Given the description of an element on the screen output the (x, y) to click on. 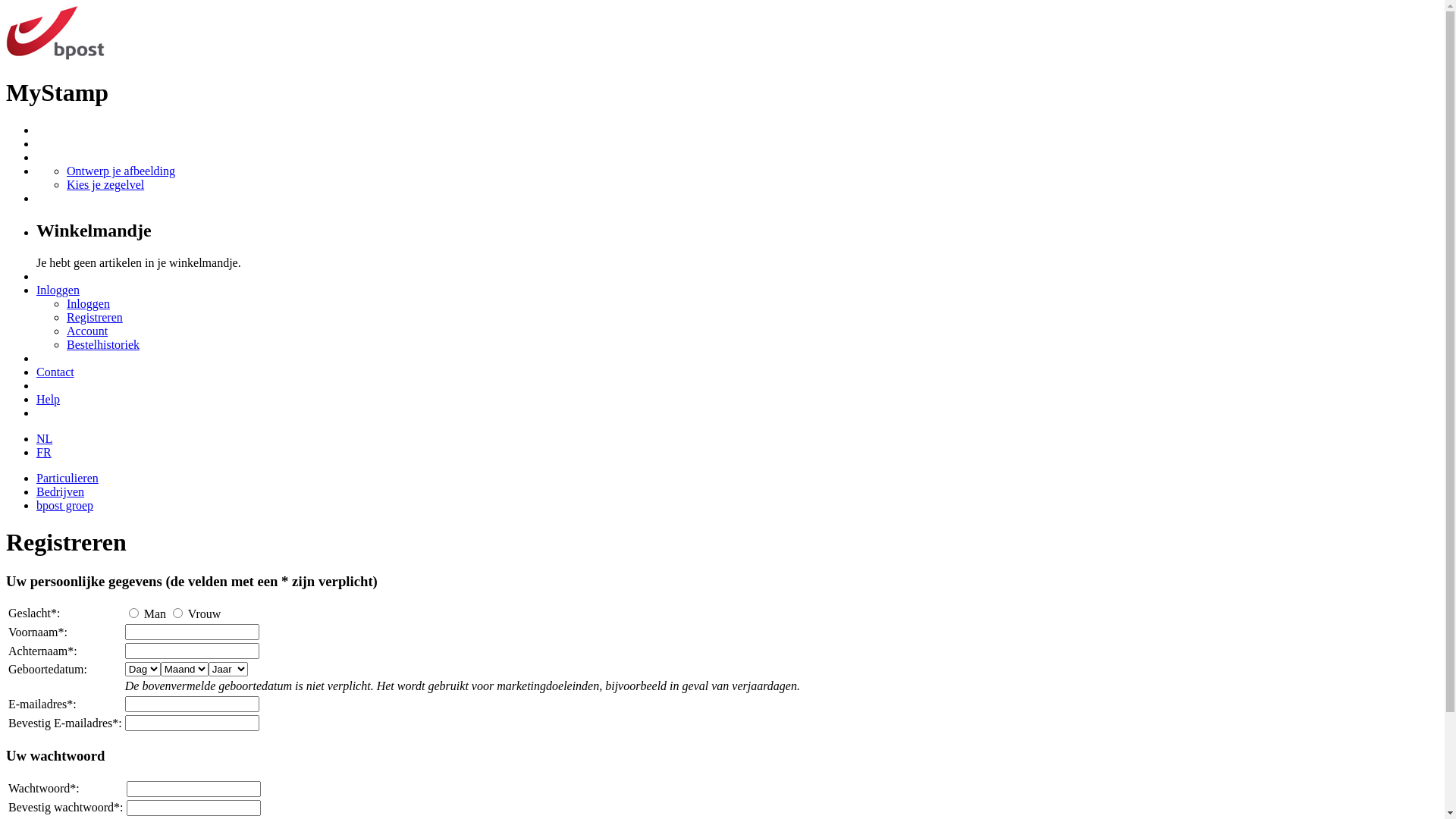
Ontwerp je afbeelding Element type: text (120, 170)
Inloggen Element type: text (87, 303)
Inloggen Element type: text (57, 289)
Account Element type: text (86, 330)
NL Element type: text (44, 438)
Bedrijven Element type: text (60, 491)
Help Element type: text (47, 398)
homepage Element type: hover (55, 55)
Kies je zegelvel Element type: text (105, 184)
Particulieren Element type: text (67, 477)
bpost groep Element type: text (64, 504)
Bestelhistoriek Element type: text (102, 344)
FR Element type: text (43, 451)
Registreren Element type: text (94, 316)
Contact Element type: text (55, 371)
